Given the description of an element on the screen output the (x, y) to click on. 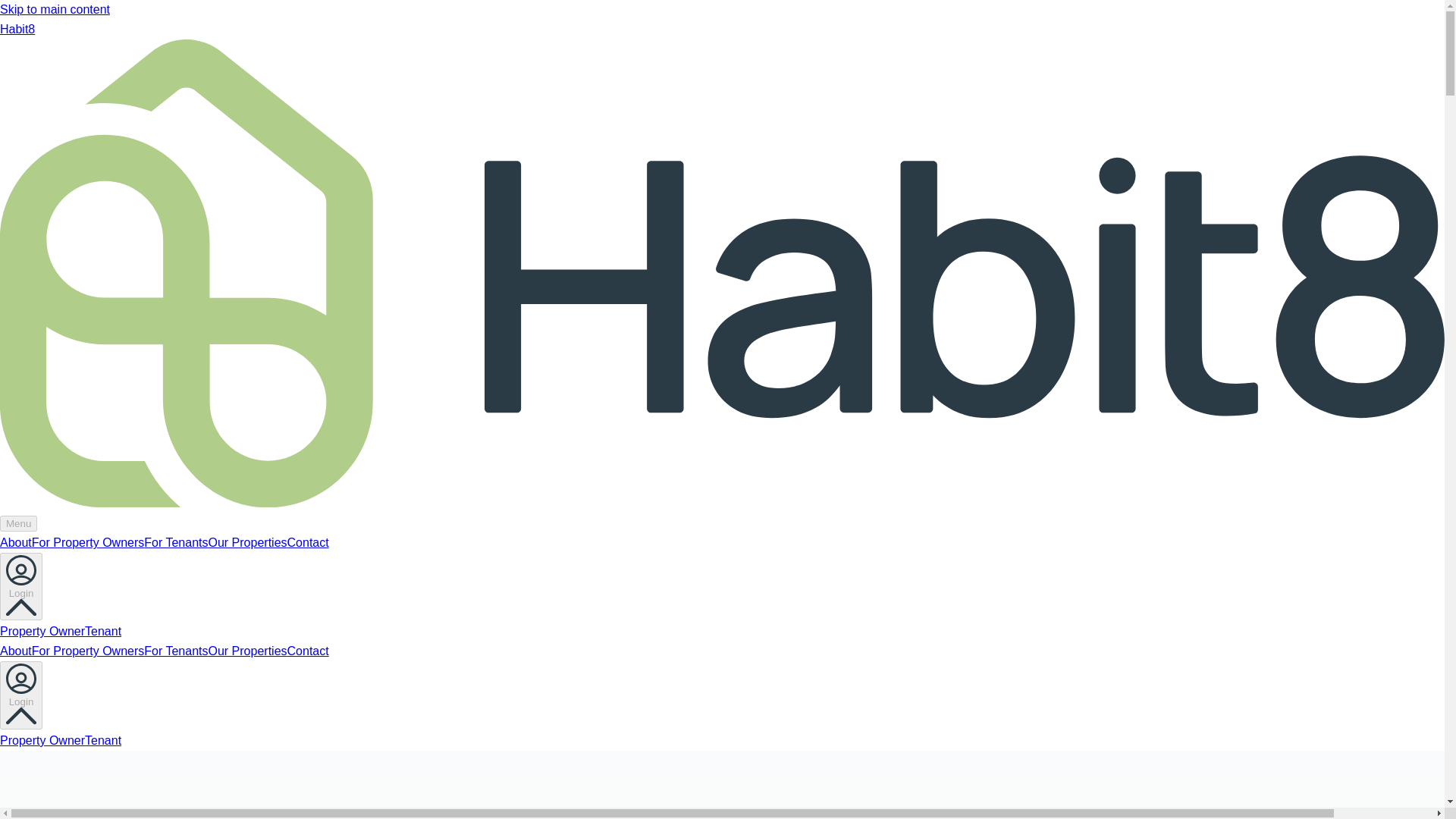
Our Properties (247, 542)
Tenant (102, 739)
For Tenants (176, 542)
Contact (307, 650)
For Property Owners (88, 542)
About (16, 542)
Property Owner (42, 739)
Our Properties (247, 650)
Contact (307, 542)
